Given the description of an element on the screen output the (x, y) to click on. 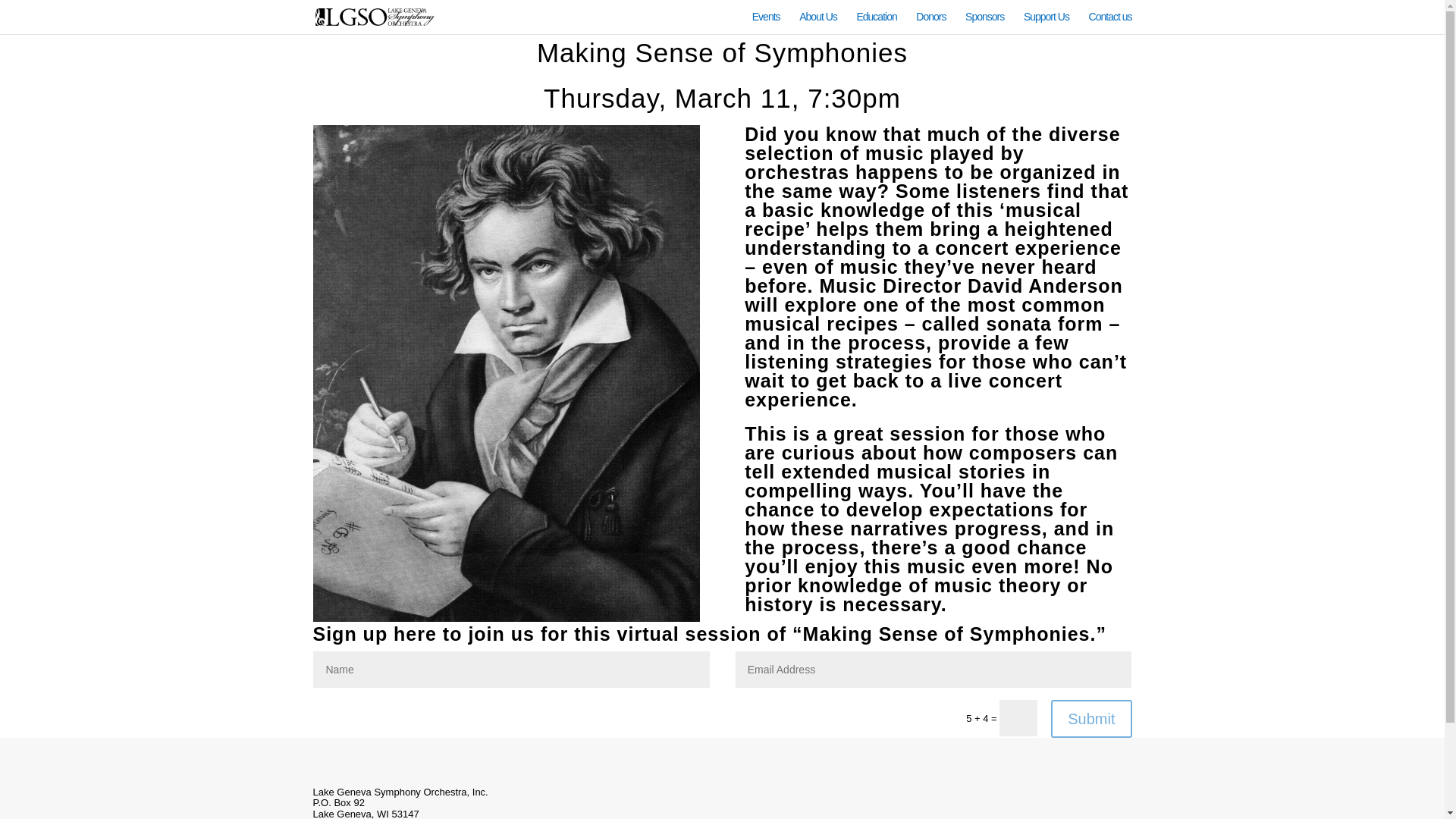
Events (766, 22)
Contact us (1110, 22)
About Us (818, 22)
Submit (1091, 718)
Support Us (1045, 22)
Sponsors (984, 22)
Education (876, 22)
Donors (929, 22)
